Given the description of an element on the screen output the (x, y) to click on. 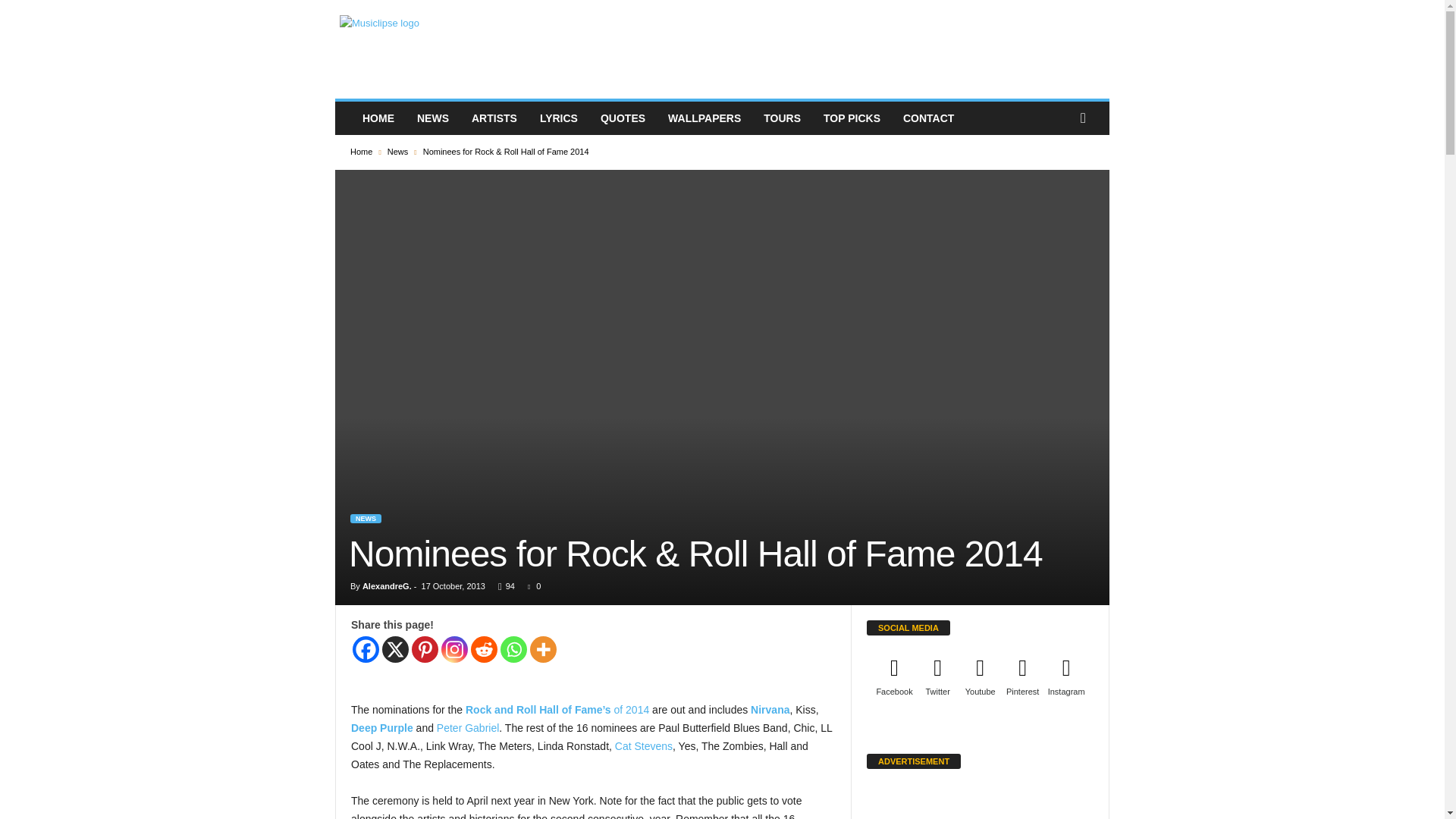
Musiclipse logo (442, 49)
View all posts in News (398, 151)
